Given the description of an element on the screen output the (x, y) to click on. 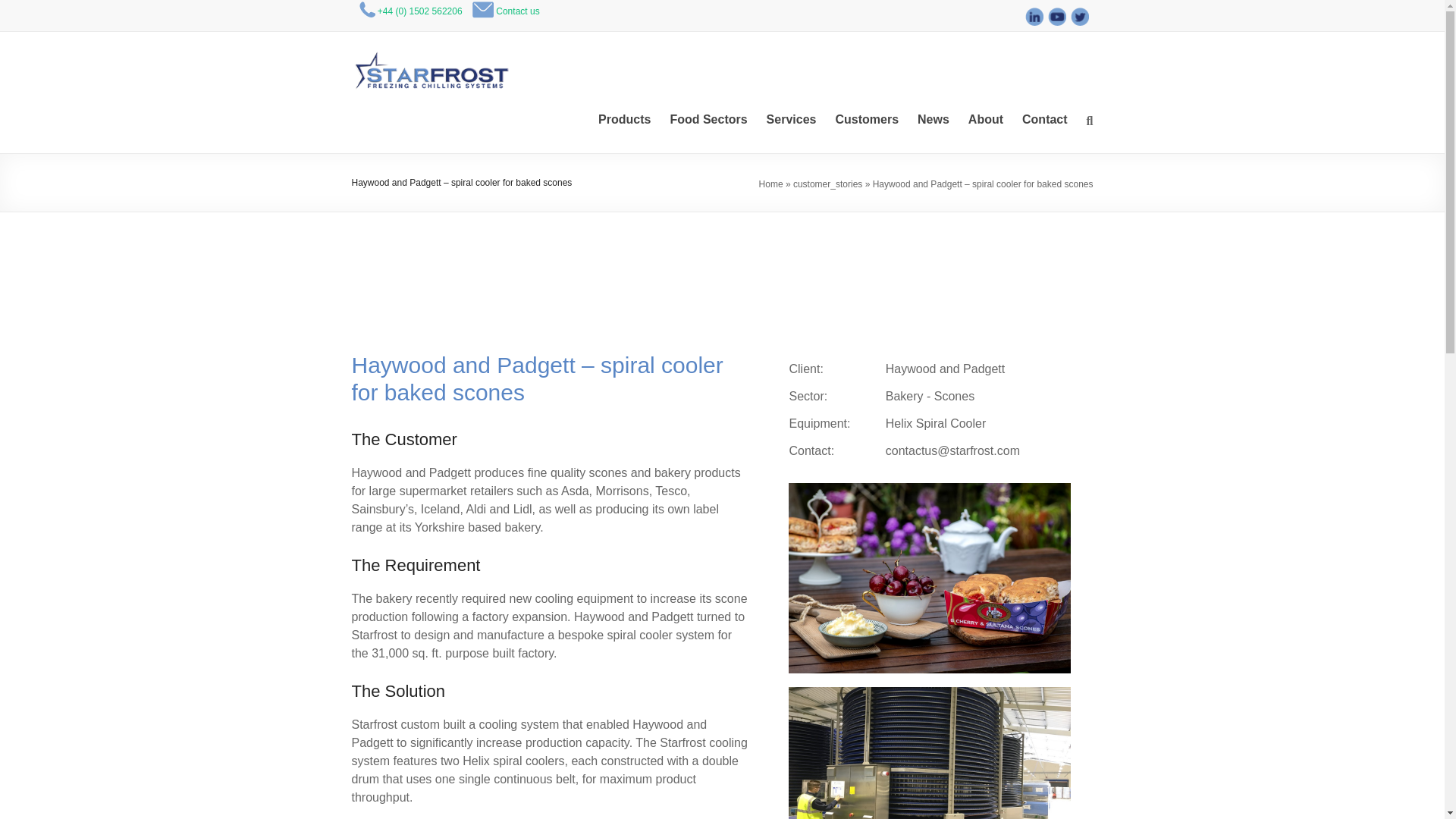
Customers (866, 119)
News (933, 119)
Services (791, 119)
Home (770, 184)
Starfrost (401, 70)
Contact us (517, 10)
Starfrost (401, 70)
Contact (1044, 119)
About (985, 119)
Products (624, 119)
